Given the description of an element on the screen output the (x, y) to click on. 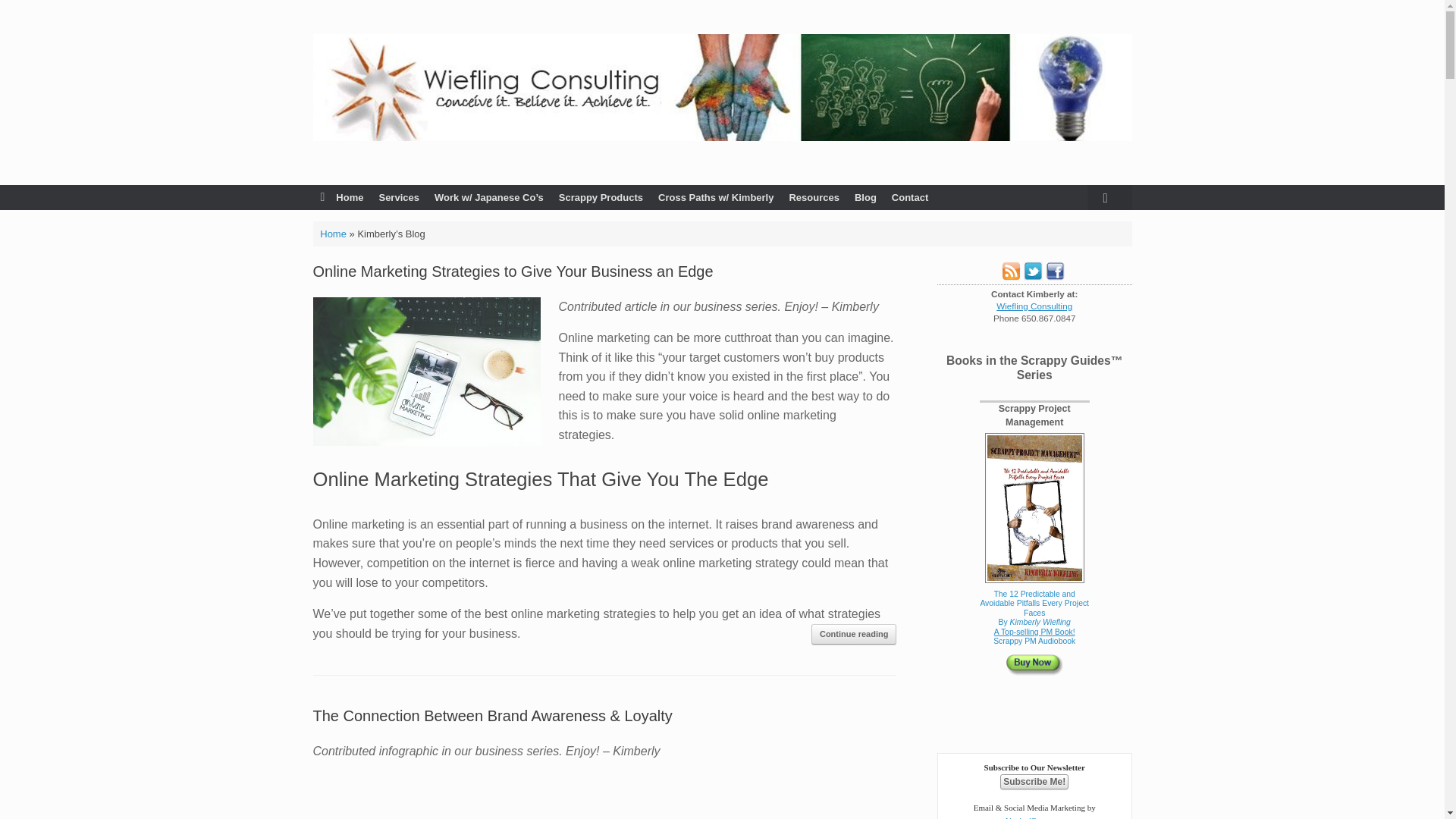
Home (342, 197)
Wiefling Consulting (722, 87)
Connect on Facebook (1054, 276)
Buy Scrappy Project Management (1034, 607)
Follow us on twitter (1032, 276)
Subscribe to our feed (1010, 276)
Subscribe Me! (1034, 781)
Services (398, 197)
Scrappy Products (600, 197)
